Given the description of an element on the screen output the (x, y) to click on. 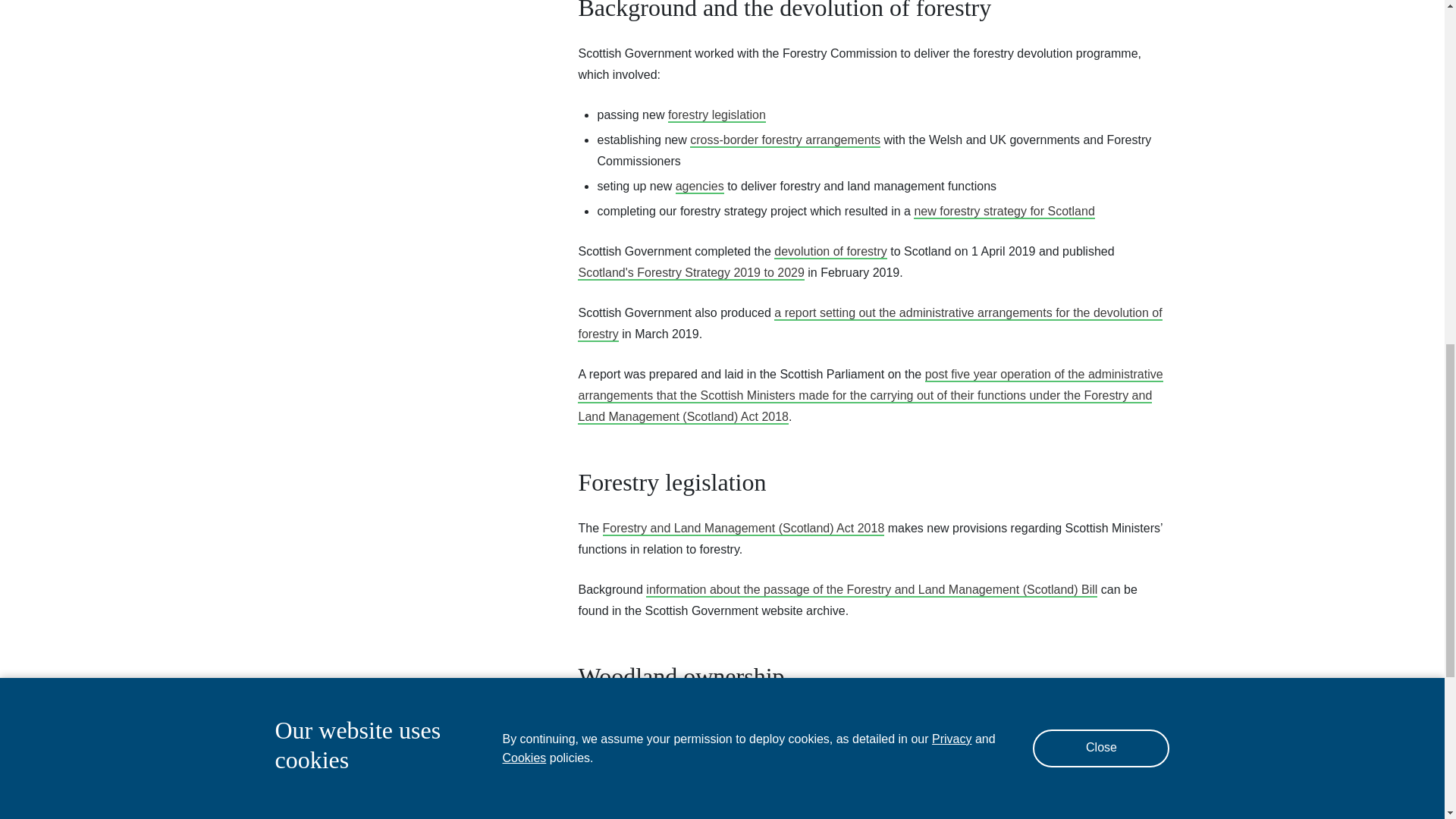
forestry legislation (716, 115)
agencies (699, 186)
new forestry strategy for Scotland (1004, 211)
cross-border forestry arrangements (785, 140)
